Given the description of an element on the screen output the (x, y) to click on. 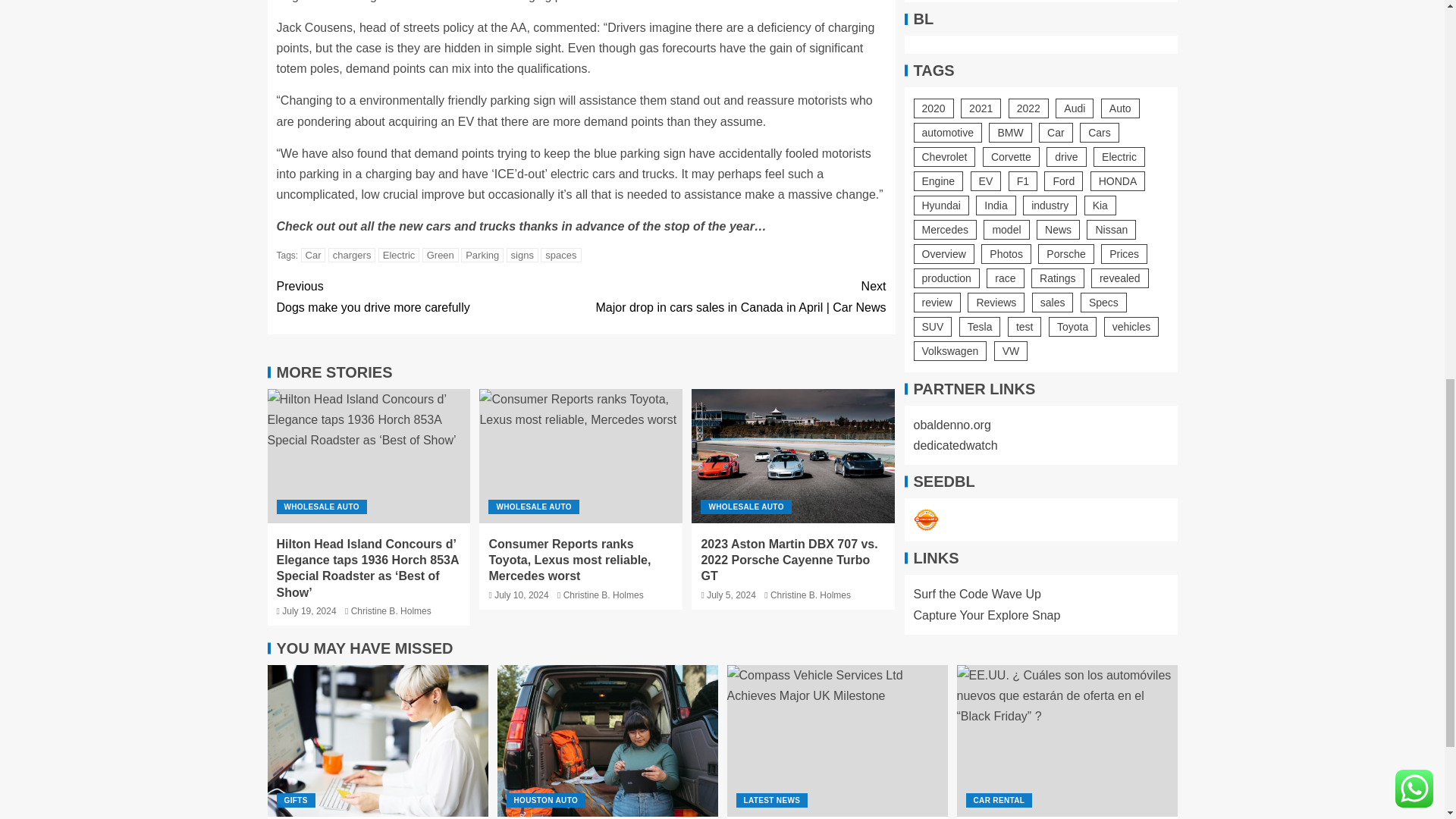
chargers (352, 255)
Car (313, 255)
Seedbacklink (925, 475)
Electric (399, 255)
Christine B. Holmes (390, 611)
2023 Aston Martin DBX 707 vs. 2022 Porsche Cayenne Turbo GT (793, 456)
Compass Vehicle Services Ltd Achieves Major UK Milestone (836, 740)
signs (522, 255)
WHOLESALE AUTO (532, 506)
spaces (560, 255)
Green (440, 255)
Parking (482, 255)
WHOLESALE AUTO (321, 506)
